Given the description of an element on the screen output the (x, y) to click on. 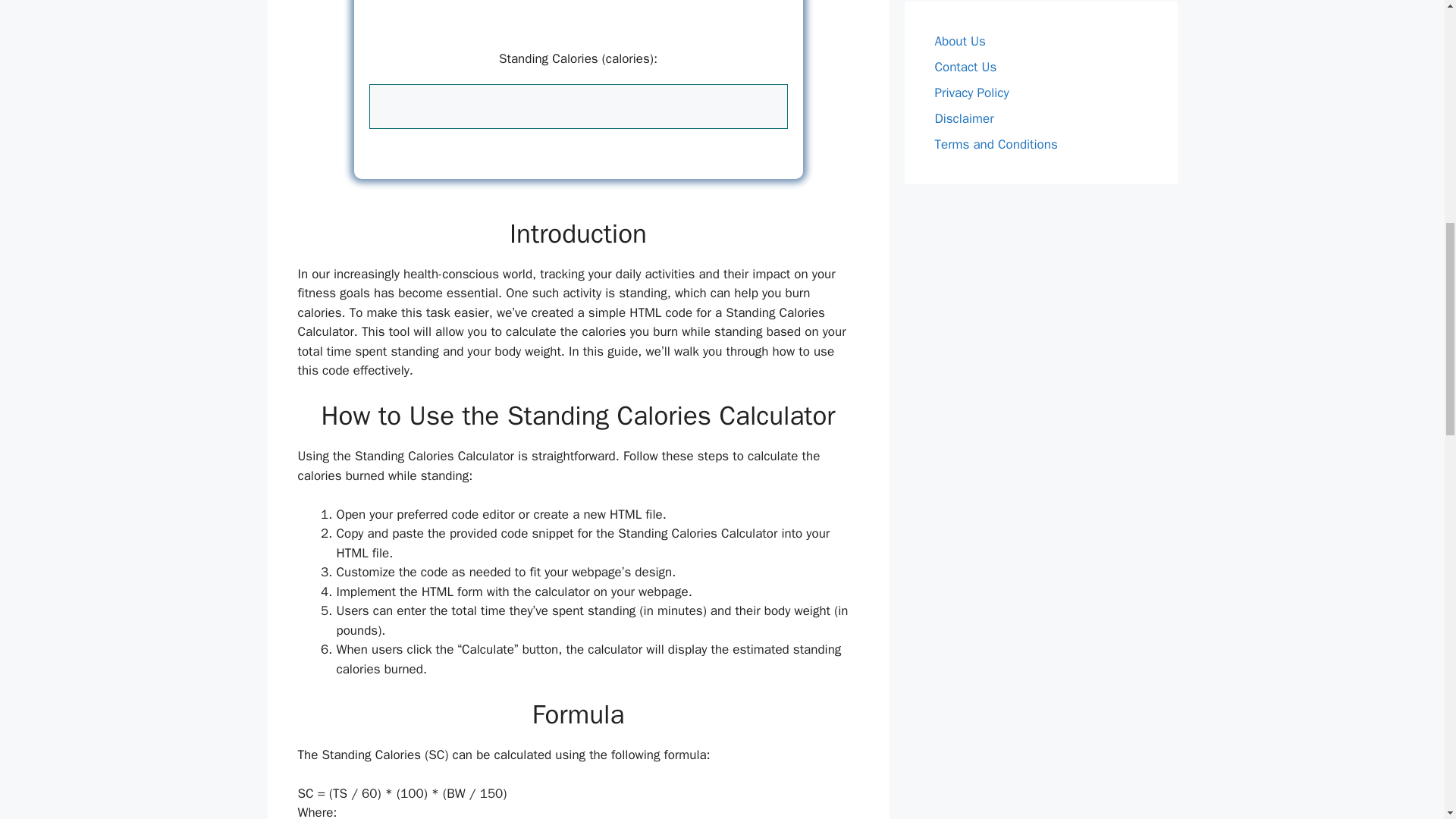
Advertisement (577, 21)
Contact Us (964, 66)
Privacy Policy (971, 92)
About Us (959, 41)
Disclaimer (963, 118)
Terms and Conditions (995, 144)
